Given the description of an element on the screen output the (x, y) to click on. 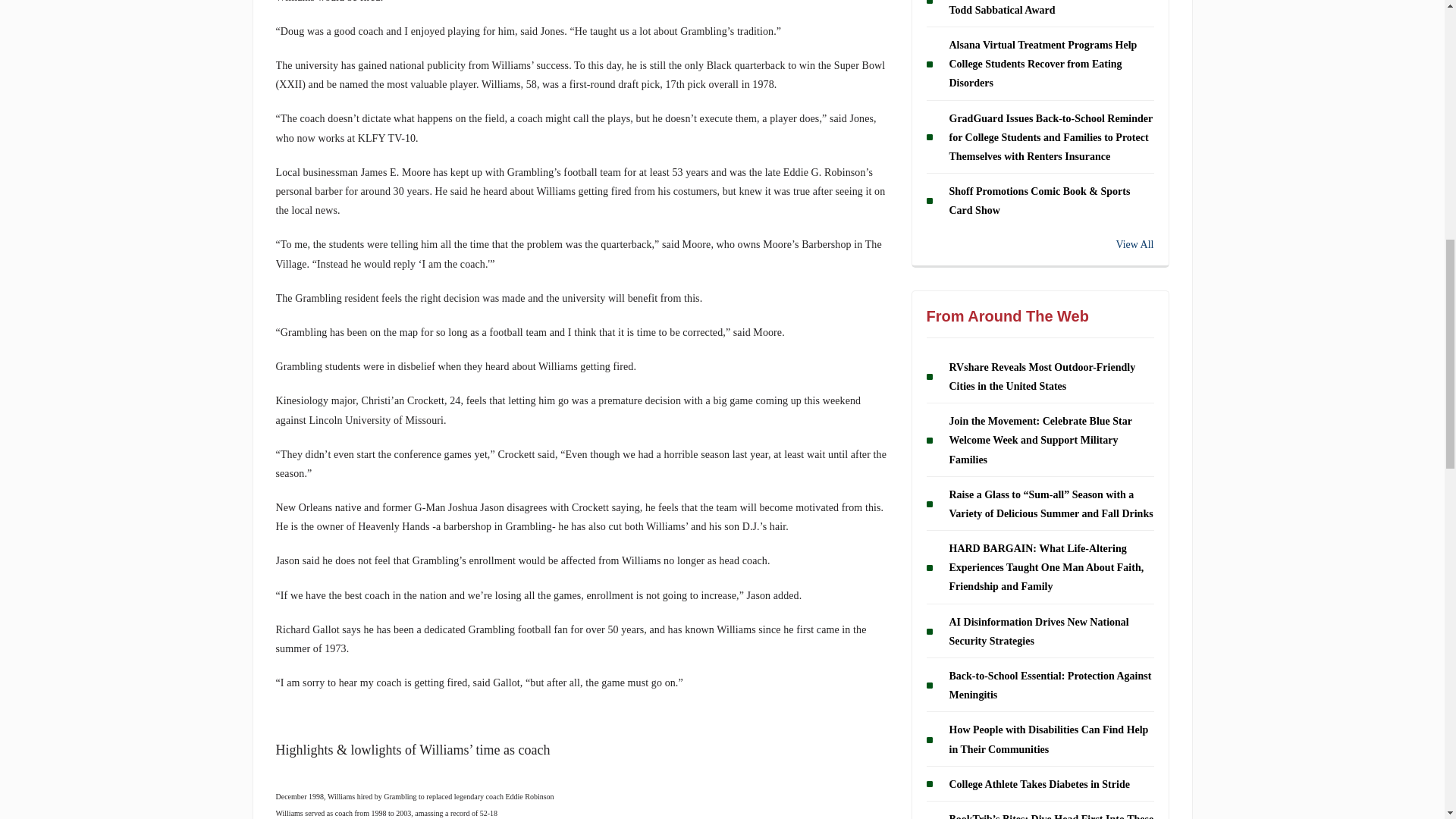
Back-to-School Essential: Protection Against Meningitis (1050, 685)
View All (1040, 244)
